Given the description of an element on the screen output the (x, y) to click on. 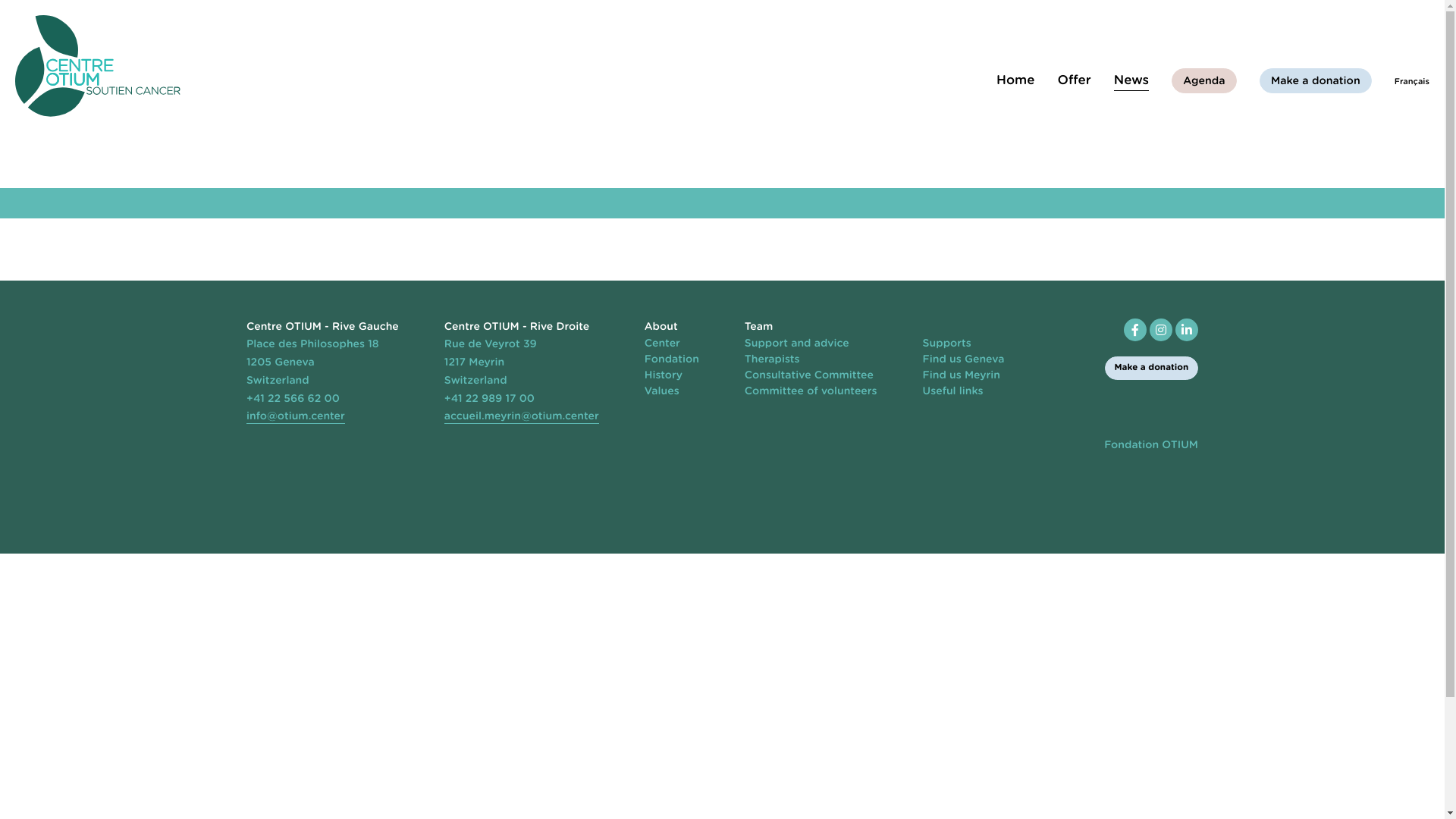
History Element type: text (663, 375)
Support and advice Element type: text (796, 343)
Supports Element type: text (946, 343)
Find us Geneva Element type: text (963, 359)
News Element type: text (1130, 81)
Therapists Element type: text (772, 359)
Home Element type: text (1015, 81)
Consultative Committee Element type: text (808, 375)
Useful links Element type: text (952, 391)
Offer Element type: text (1073, 81)
info@otium.center Element type: text (295, 416)
Fondation Element type: text (671, 359)
Make a donation Element type: text (1315, 80)
Otium Centre Element type: text (97, 65)
Agenda Element type: text (1203, 80)
Make a donation Element type: text (1151, 367)
Find us Meyrin Element type: text (961, 375)
Center Element type: text (662, 343)
accueil.meyrin@otium.center Element type: text (521, 416)
Values Element type: text (661, 391)
Committee of volunteers Element type: text (810, 391)
